Given the description of an element on the screen output the (x, y) to click on. 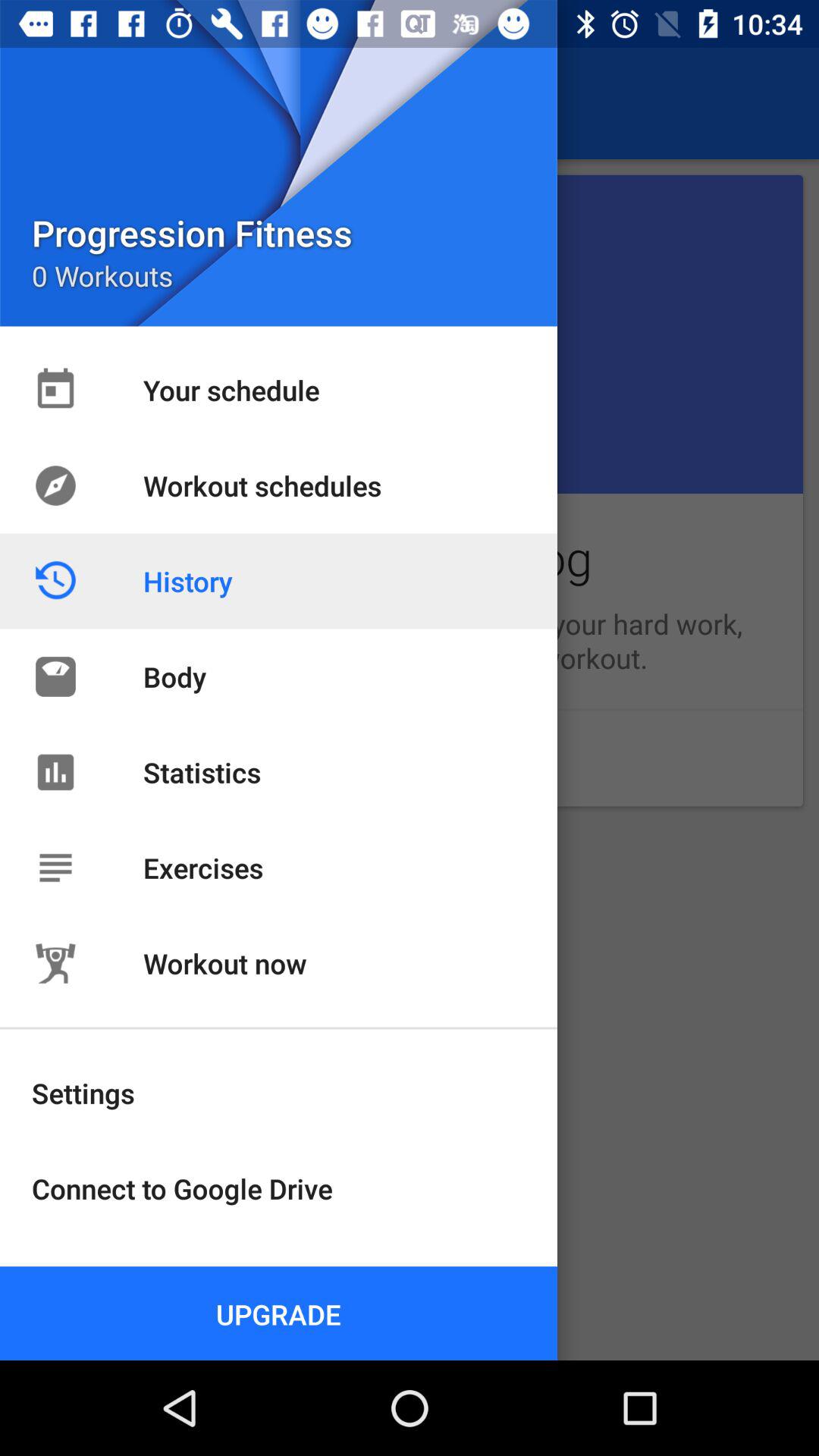
select the fifth option which is below progression fitness (409, 758)
